Given the description of an element on the screen output the (x, y) to click on. 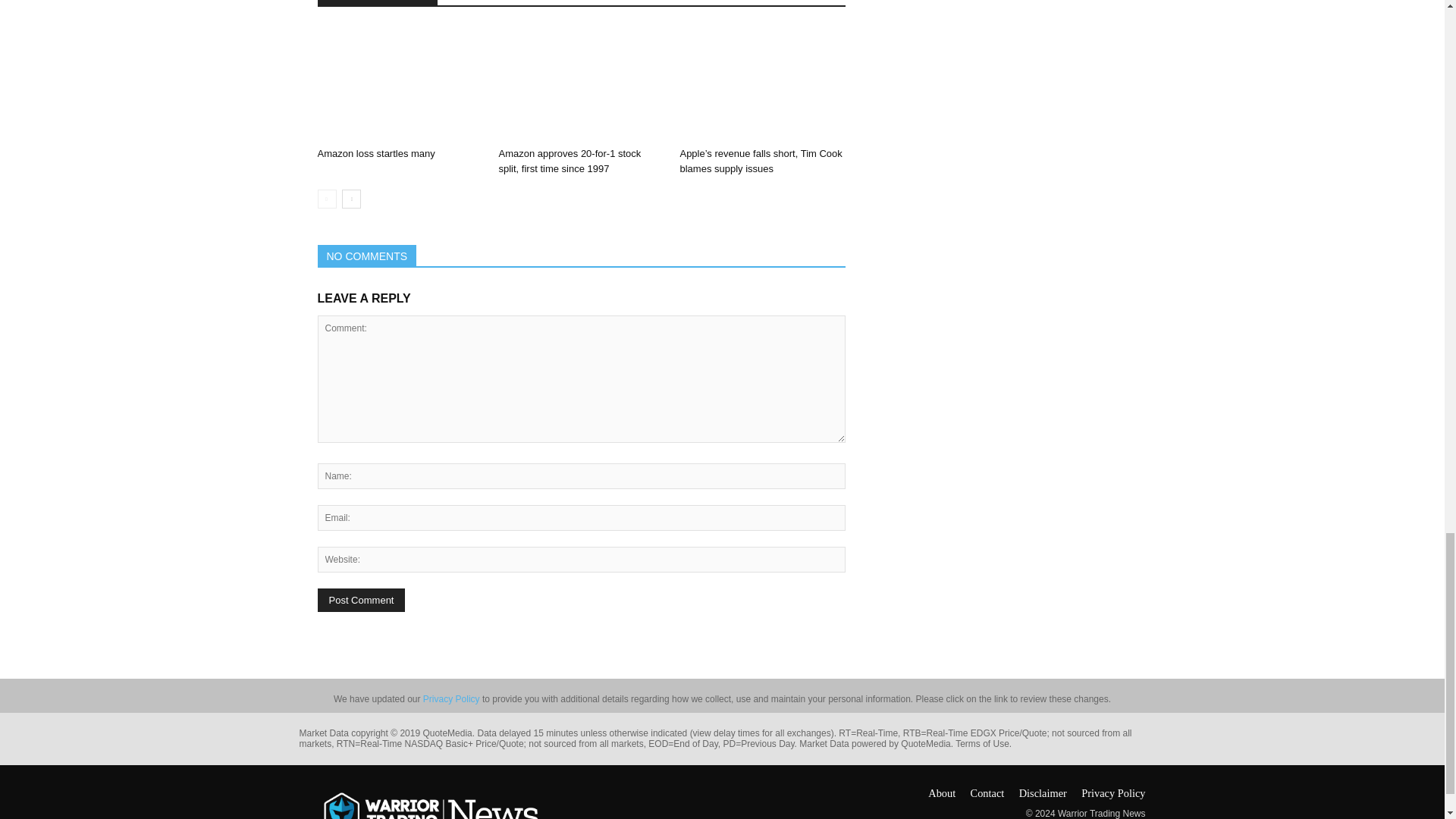
Amazon approves 20-for-1 stock split, first time since 1997 (568, 161)
Amazon loss startles many (375, 153)
Amazon loss startles many (399, 83)
Amazon approves 20-for-1 stock split, first time since 1997 (580, 83)
Post Comment (360, 599)
